Given the description of an element on the screen output the (x, y) to click on. 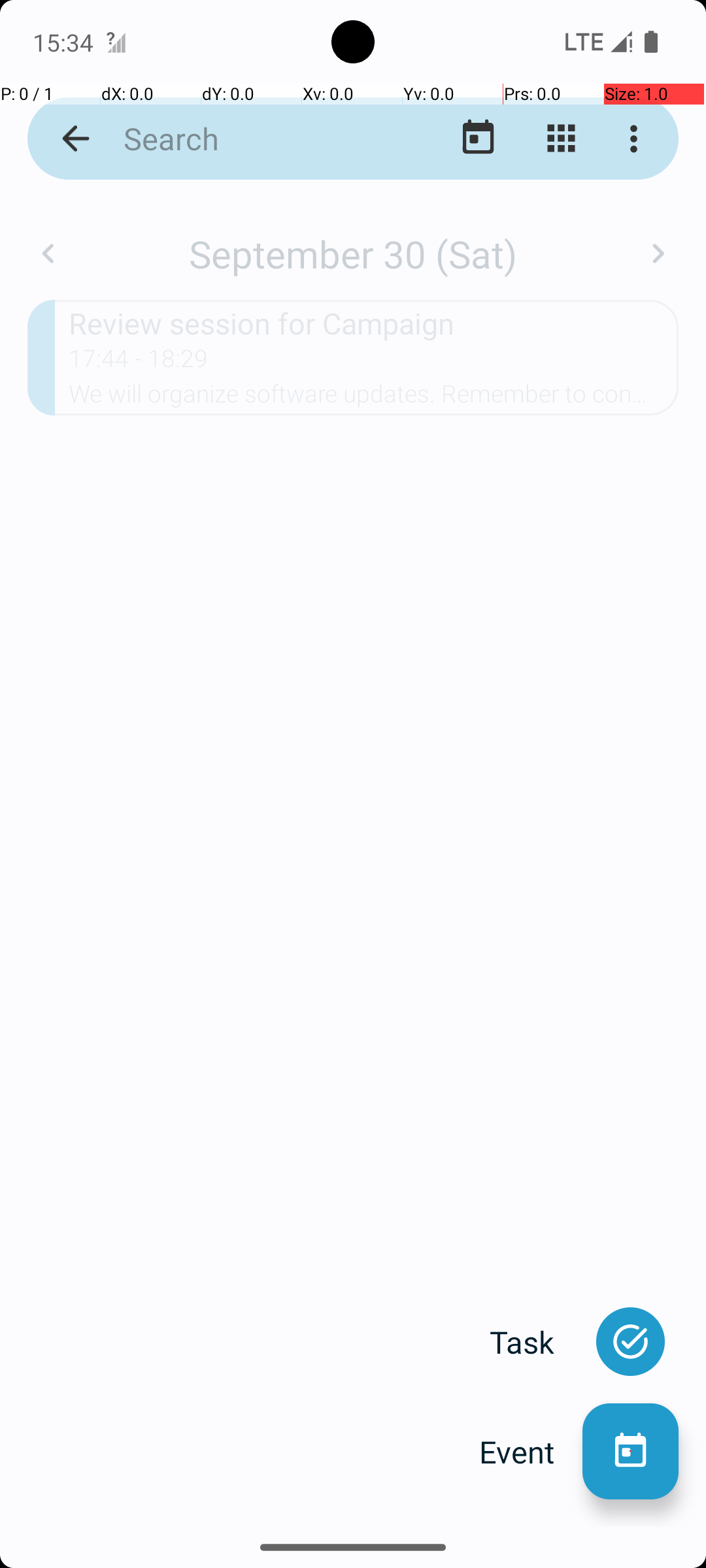
September 30 (Sat) Element type: android.widget.TextView (352, 253)
17:44 - 18:29 Element type: android.widget.TextView (137, 362)
We will organize software updates. Remember to confirm attendance. Element type: android.widget.TextView (373, 397)
